Given the description of an element on the screen output the (x, y) to click on. 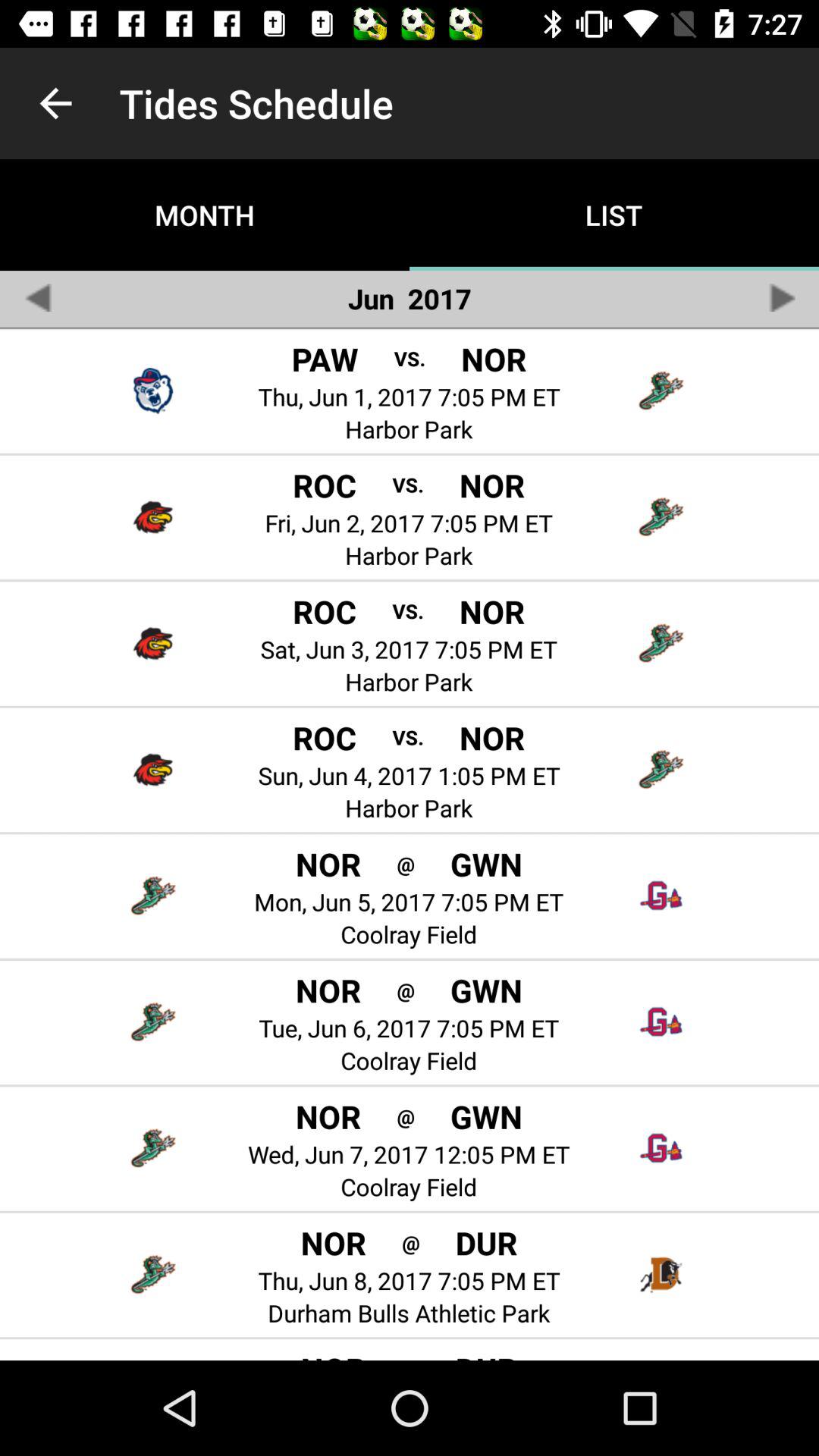
swipe until the durham bulls athletic app (408, 1312)
